Given the description of an element on the screen output the (x, y) to click on. 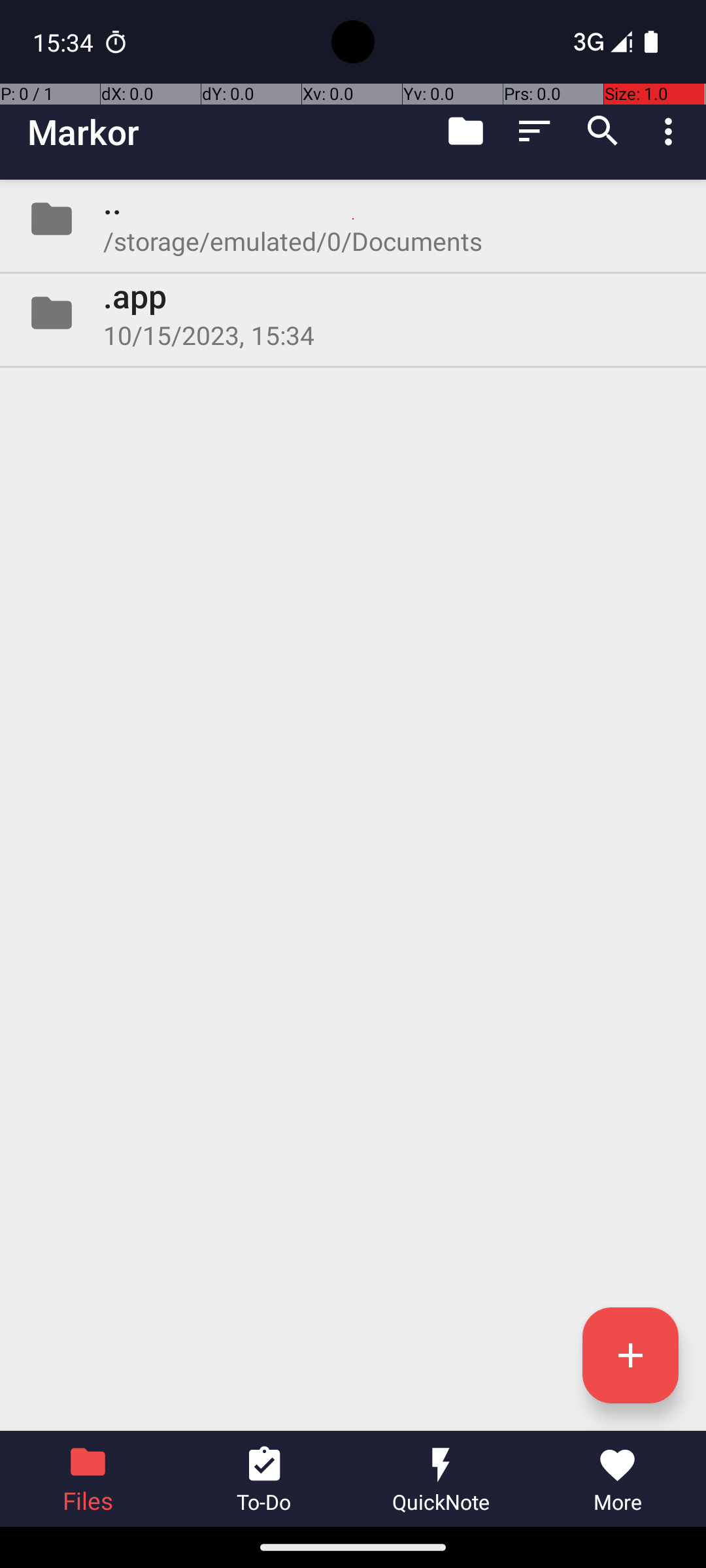
Folder .. /storage/emulated/0/Documents/markor Element type: android.widget.LinearLayout (353, 218)
Folder .app 10/15/2023, 15:34 Element type: android.widget.LinearLayout (353, 312)
